Given the description of an element on the screen output the (x, y) to click on. 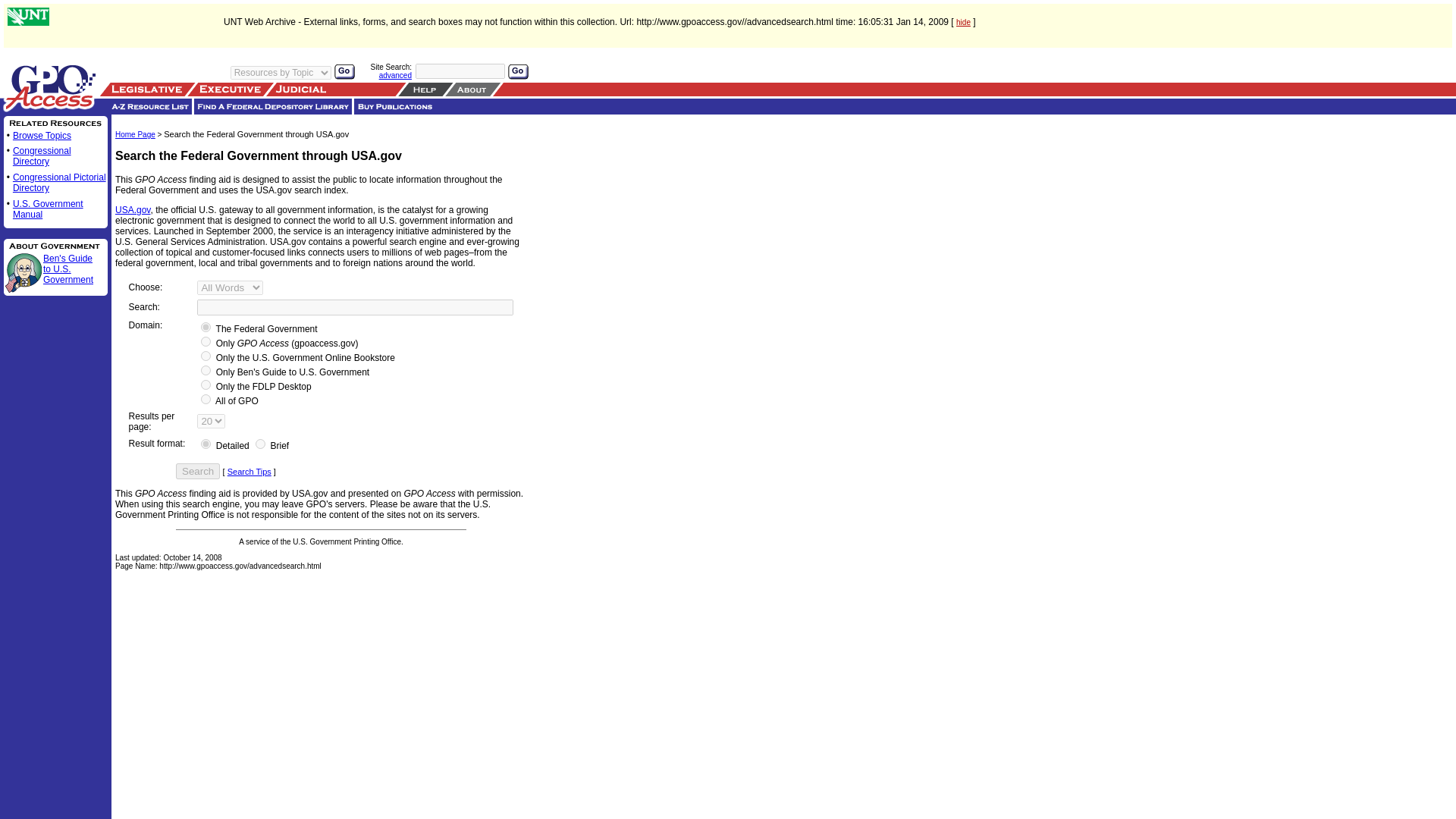
detailed (205, 443)
Congressional Pictorial Directory (59, 182)
Congressional Directory (42, 156)
Browse Topics (42, 135)
Search Tips (248, 470)
Home Page (135, 134)
bookstore.gpo.gov (205, 356)
gpoaccess.gov (205, 341)
U.S. Government Manual (47, 209)
Search (197, 471)
brief (260, 443)
hide (963, 22)
bensguide.gpo.gov (205, 370)
advanced (395, 75)
USA.gov (132, 209)
